Given the description of an element on the screen output the (x, y) to click on. 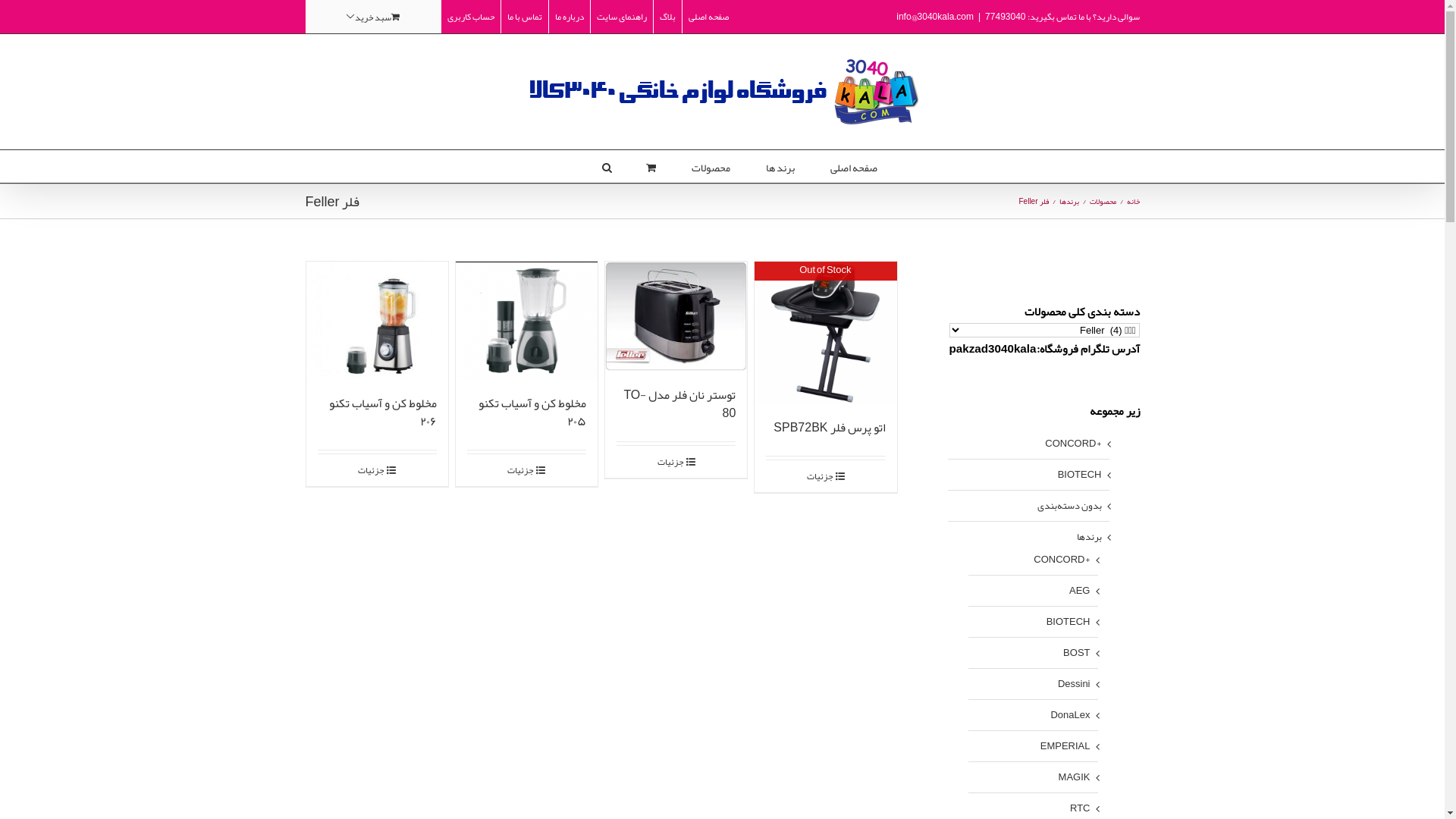
AEG Element type: text (1079, 590)
BOST Element type: text (1076, 652)
Dessini Element type: text (1073, 683)
EMPERIAL Element type: text (1065, 746)
MAGIK Element type: text (1074, 777)
+CONCORD Element type: text (1061, 559)
+CONCORD Element type: text (1072, 443)
info@3040kala.com Element type: text (934, 16)
BIOTECH Element type: text (1079, 474)
DonaLex Element type: text (1069, 714)
BIOTECH Element type: text (1068, 621)
RTC Element type: text (1079, 808)
Out of Stock Element type: text (825, 332)
